Given the description of an element on the screen output the (x, y) to click on. 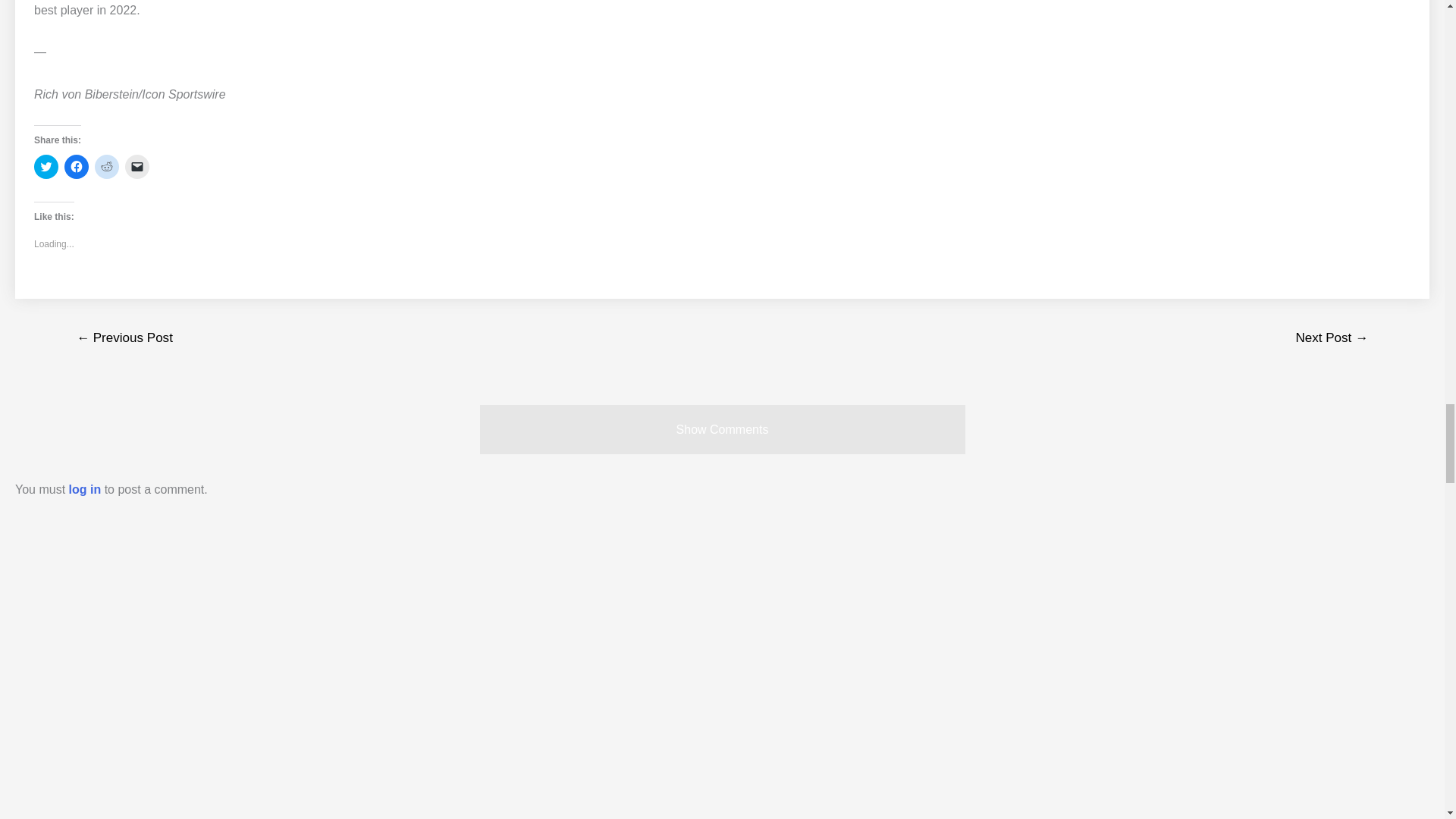
Click to share on Facebook (76, 166)
Click to share on Reddit (106, 166)
Click to share on Twitter (45, 166)
